Given the description of an element on the screen output the (x, y) to click on. 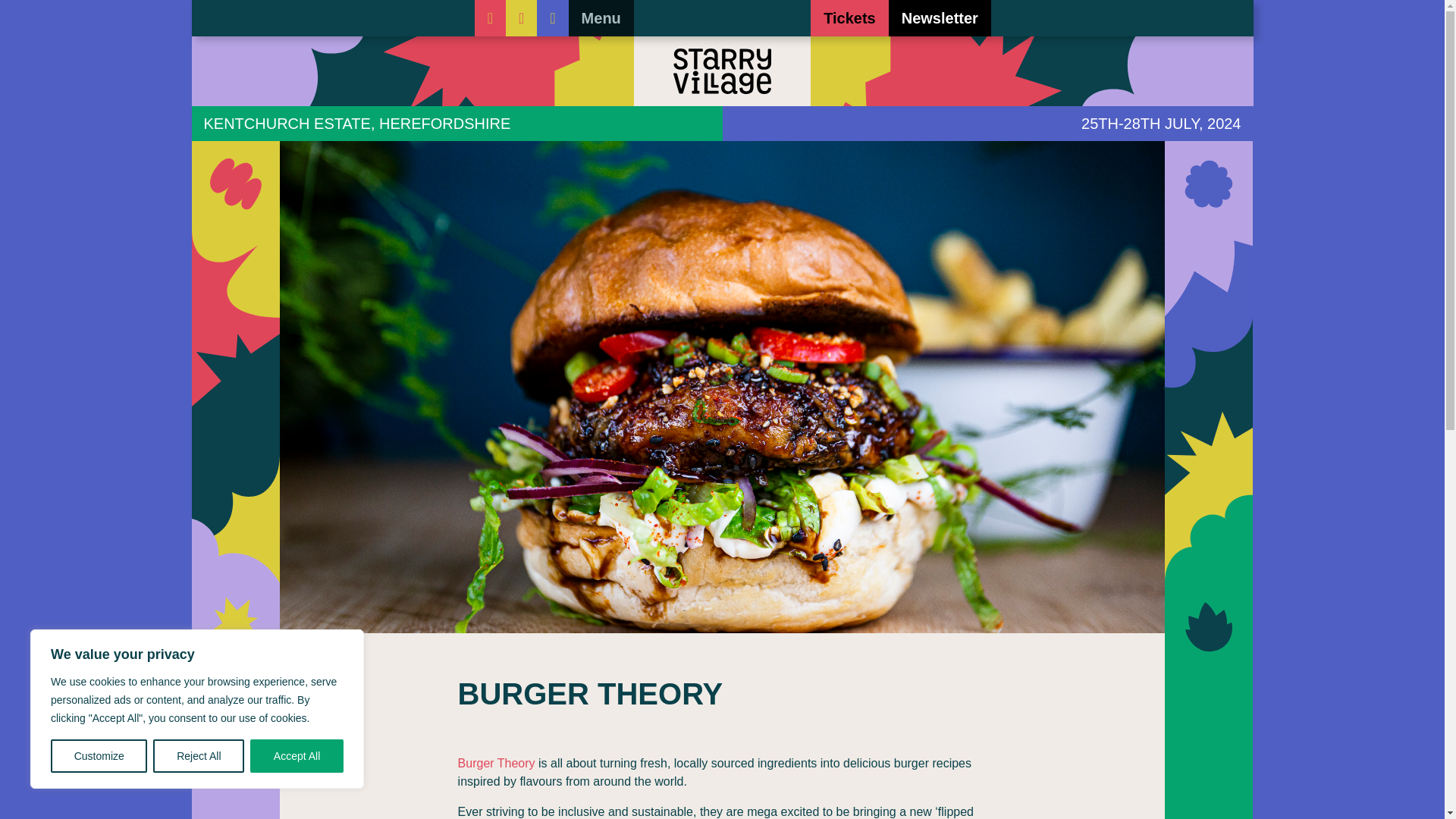
Burger Theory (496, 762)
Customize (98, 756)
Reject All (198, 756)
Newsletter (939, 18)
Tickets (849, 18)
Menu (601, 18)
Accept All (296, 756)
